Given the description of an element on the screen output the (x, y) to click on. 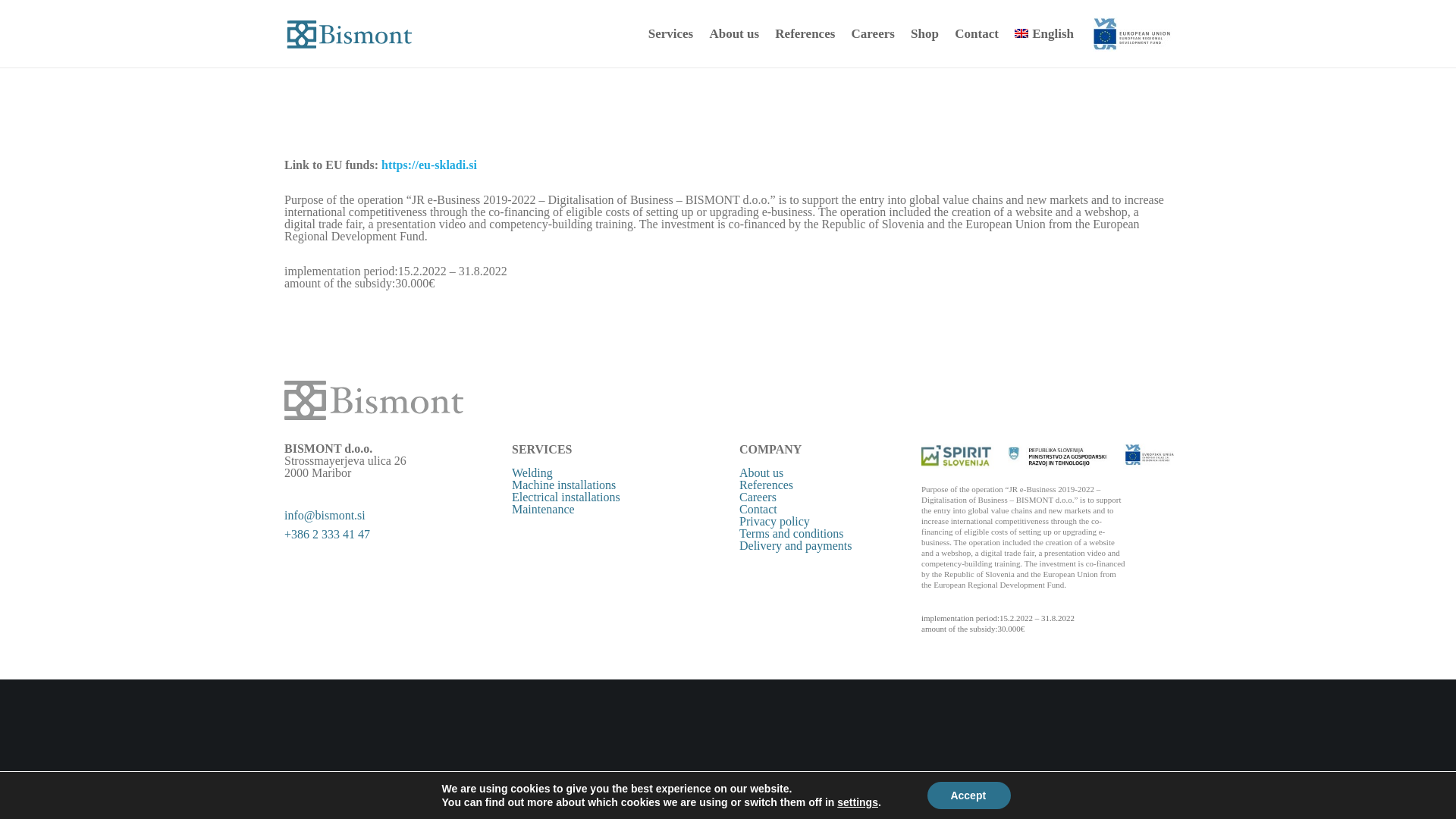
Maintenance (543, 508)
Careers (757, 496)
Welding (532, 472)
Electrical installations (566, 496)
Contact (758, 508)
References (805, 33)
English (1042, 33)
Delivery and payments (795, 545)
English (1042, 33)
English (1020, 32)
Privacy policy (774, 521)
Terms and conditions (791, 533)
Machine installations (563, 484)
About us (761, 472)
References (766, 484)
